Given the description of an element on the screen output the (x, y) to click on. 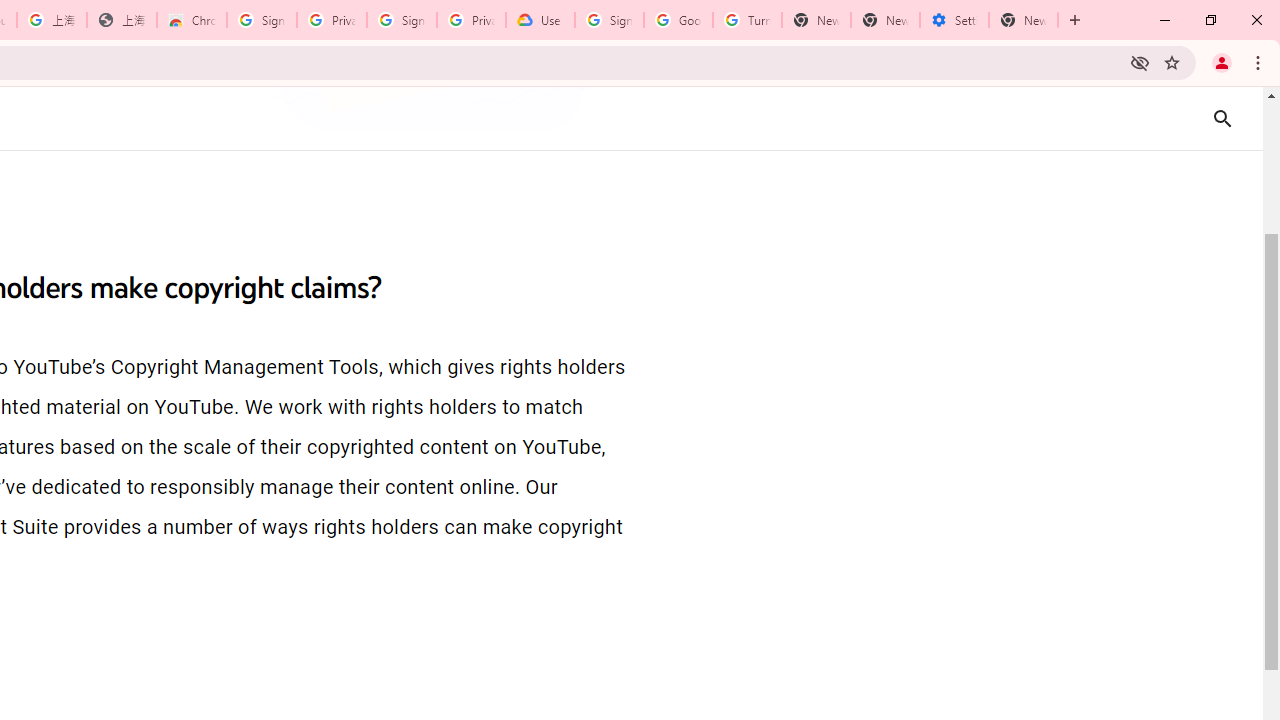
Sign in - Google Accounts (401, 20)
Sign in - Google Accounts (608, 20)
